Given the description of an element on the screen output the (x, y) to click on. 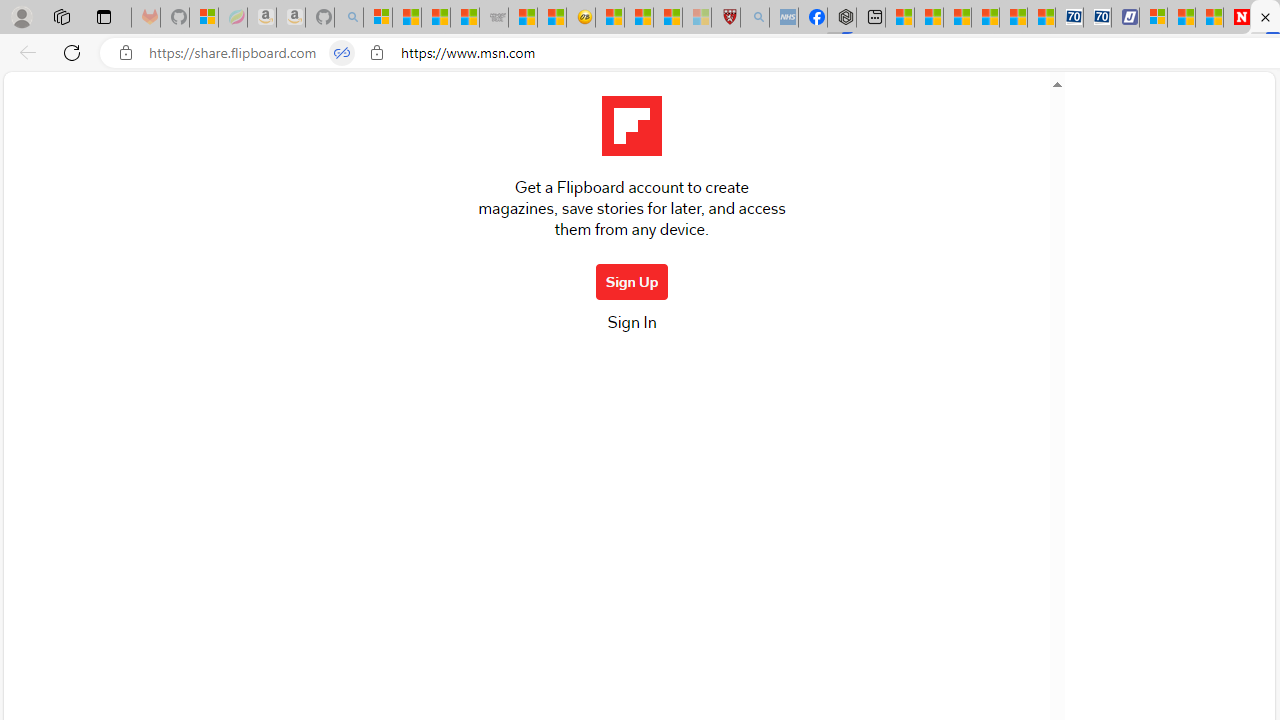
Science - MSN (668, 17)
Sign Up (632, 282)
Recipes - MSN (610, 17)
Nordace - Nordace Siena Is Not An Ordinary Backpack (842, 17)
Newsweek - News, Analysis, Politics, Business, Technology (1236, 17)
Cheap Car Rentals - Save70.com (1069, 17)
Cheap Hotels - Save70.com (1097, 17)
Combat Siege (494, 17)
